Given the description of an element on the screen output the (x, y) to click on. 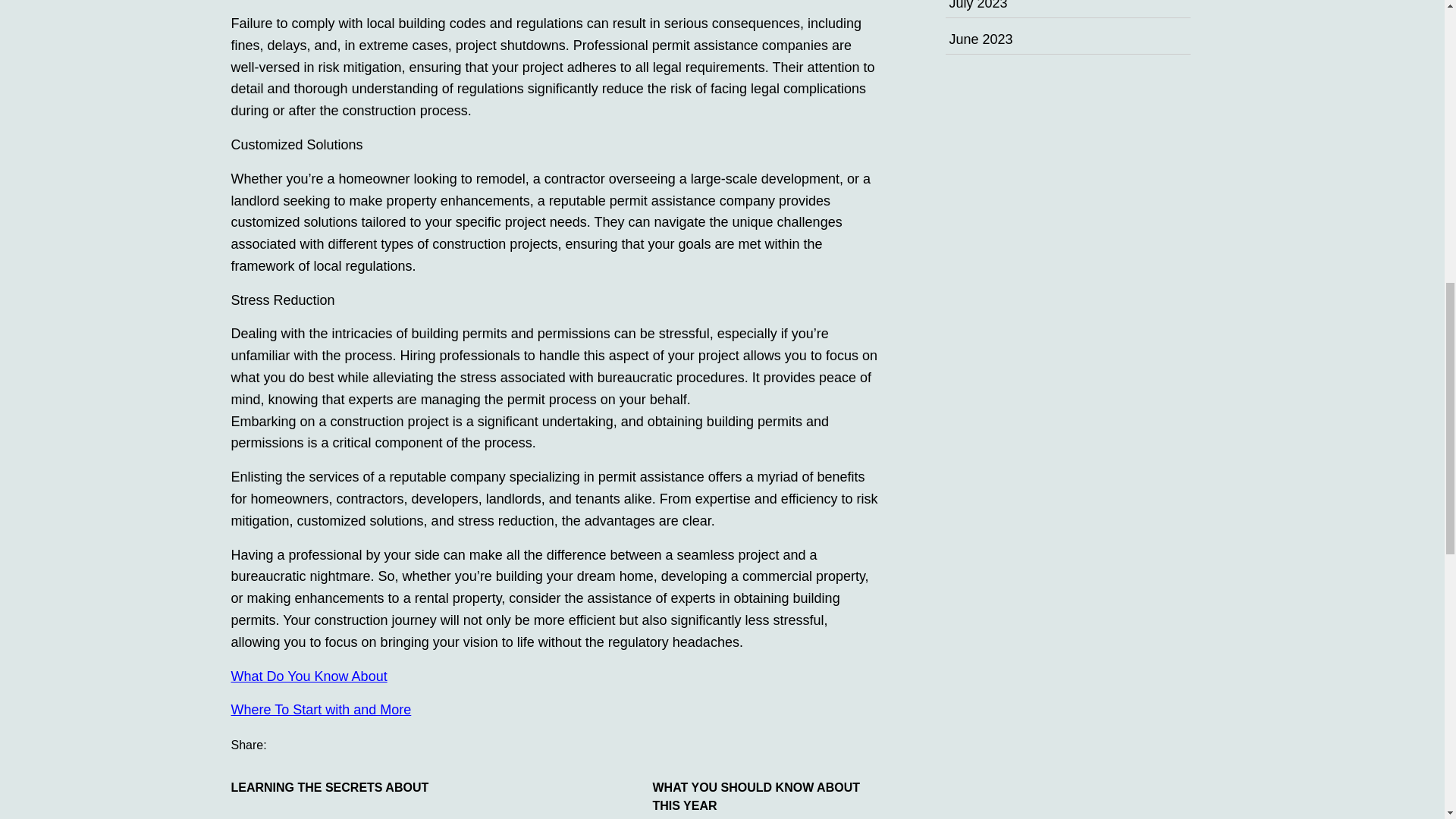
LEARNING THE SECRETS ABOUT (344, 787)
What Do You Know About (308, 676)
Where To Start with and More (320, 709)
WHAT YOU SHOULD KNOW ABOUT THIS YEAR (765, 796)
June 2023 (981, 38)
July 2023 (978, 5)
